Given the description of an element on the screen output the (x, y) to click on. 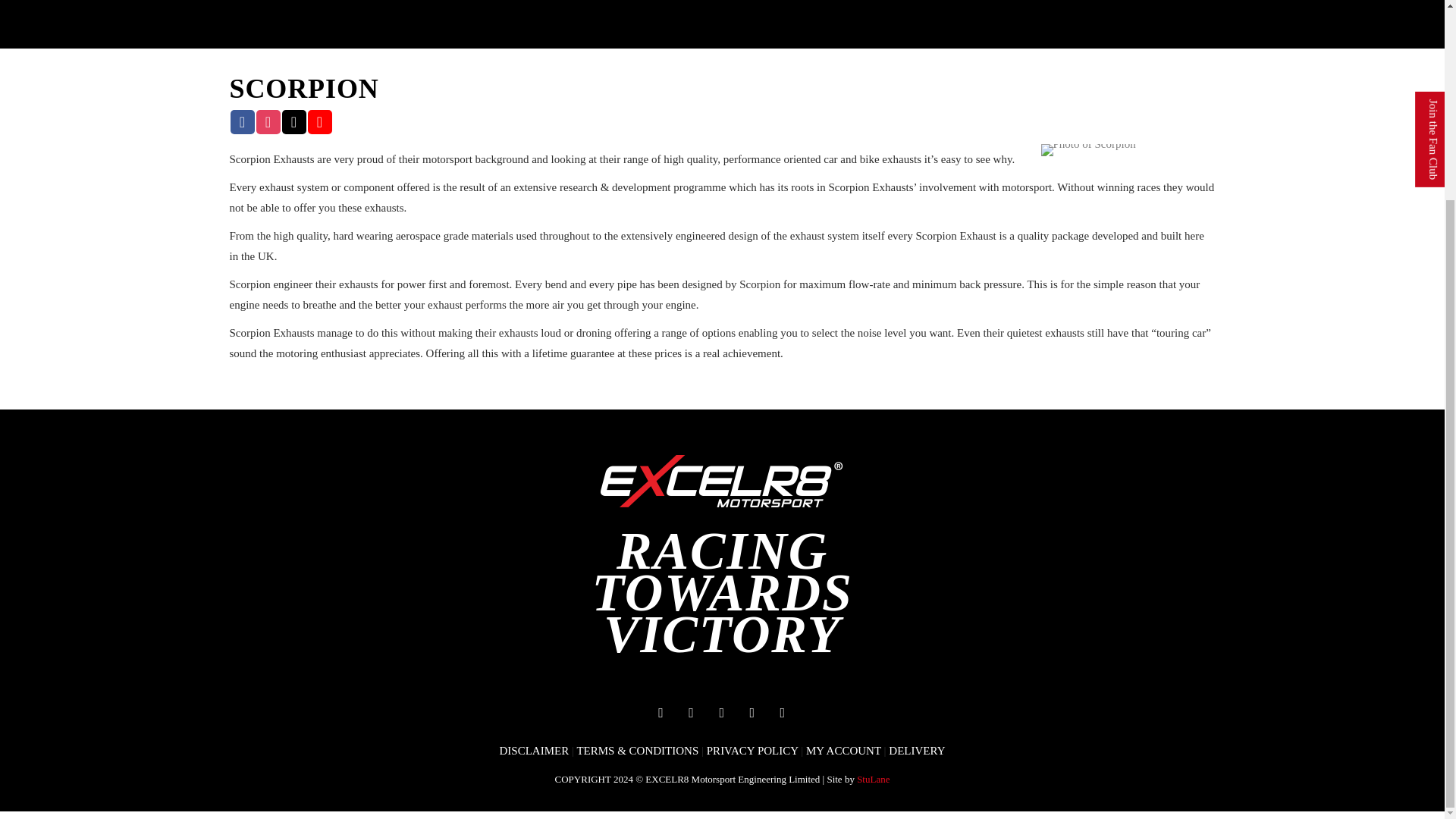
Photo of Scorpion (1088, 150)
Instagram (722, 711)
Facebook (660, 711)
X (752, 711)
